Given the description of an element on the screen output the (x, y) to click on. 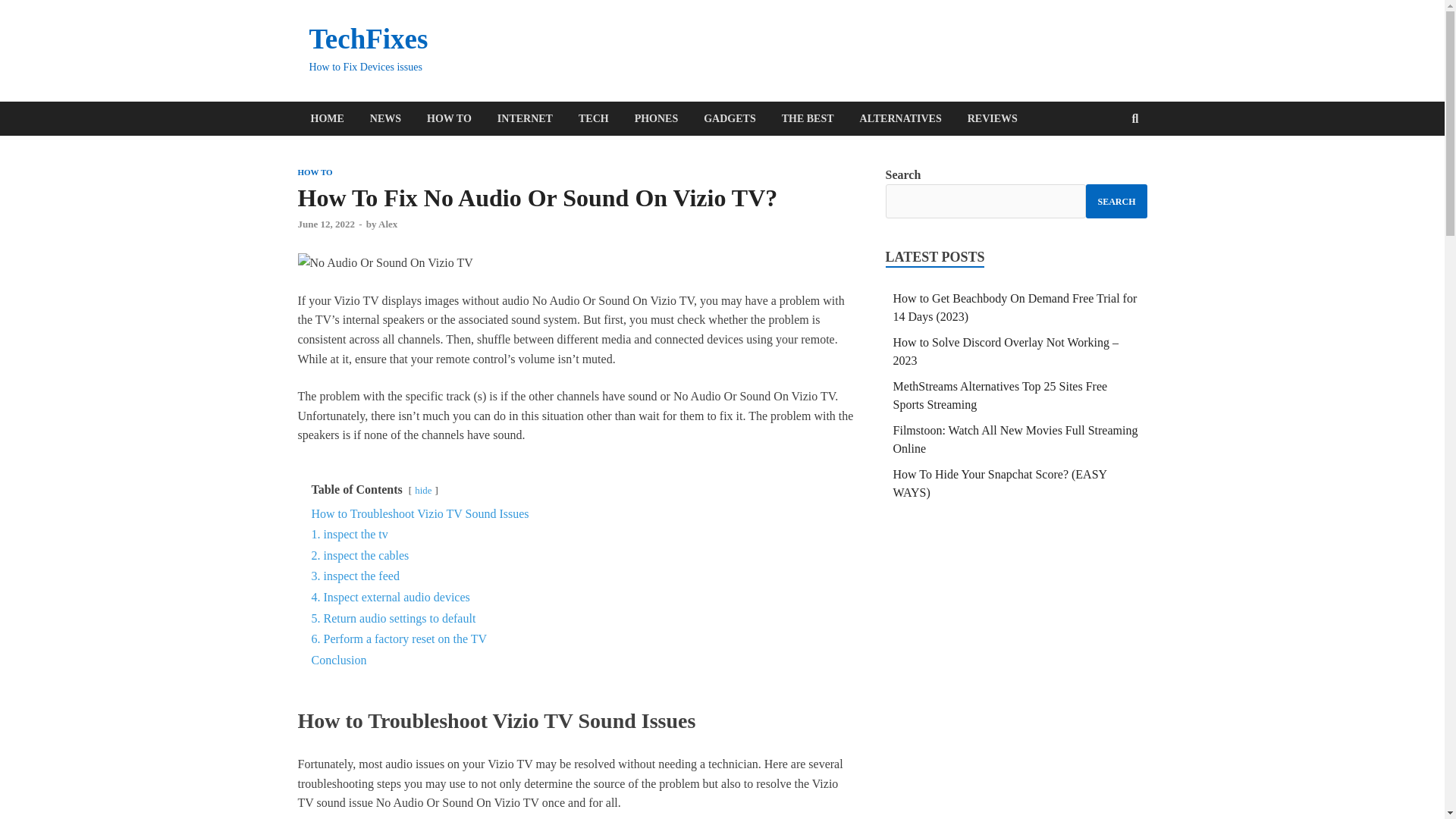
3. inspect the feed (354, 575)
How to Troubleshoot Vizio TV Sound Issues (419, 513)
INTERNET (525, 118)
HOW TO (448, 118)
June 12, 2022 (325, 224)
SEARCH (1116, 201)
hide (422, 490)
HOW TO (314, 171)
ALTERNATIVES (901, 118)
HOME (326, 118)
